Given the description of an element on the screen output the (x, y) to click on. 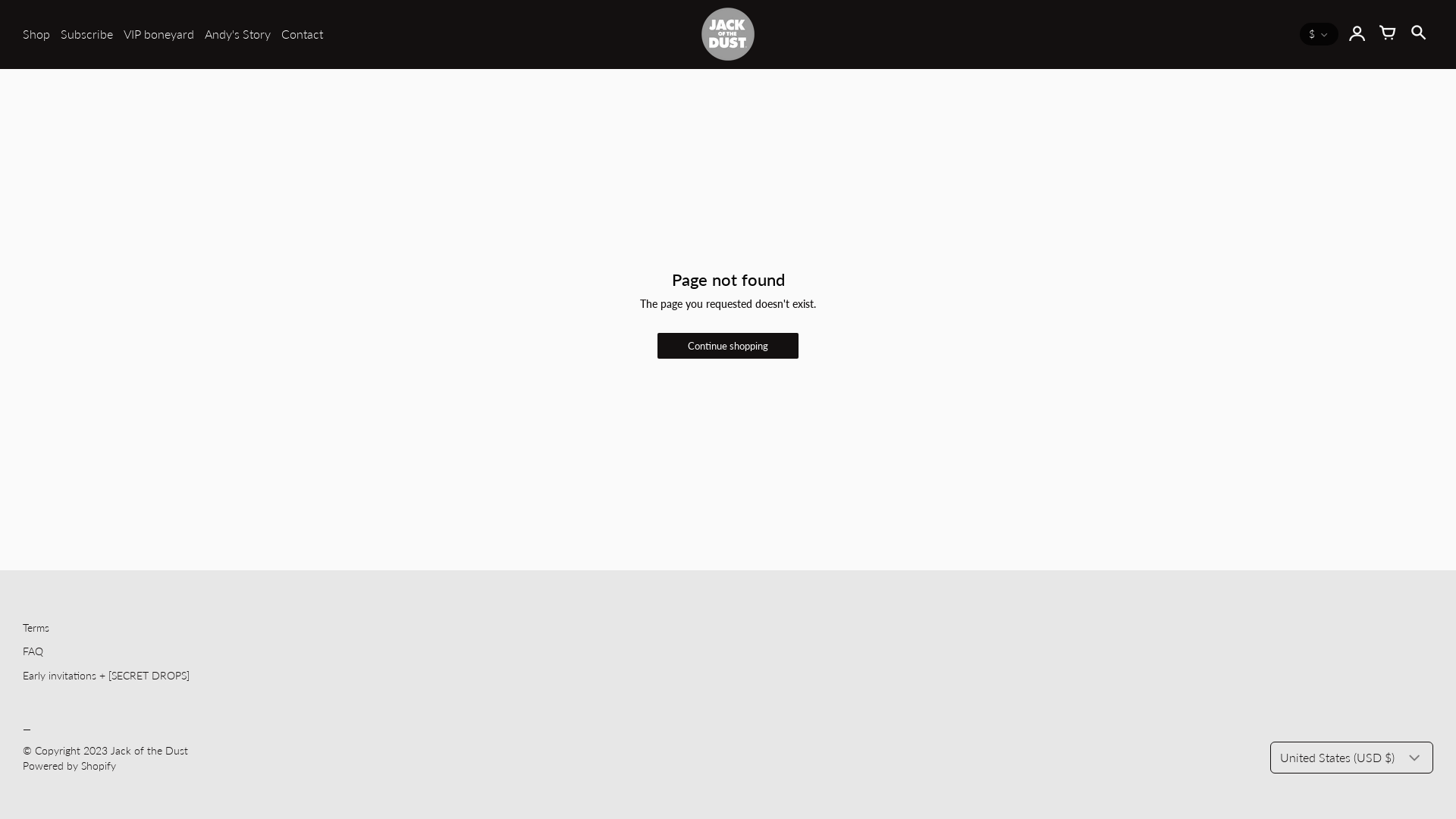
Powered by Shopify Element type: text (69, 765)
FAQ Element type: text (32, 650)
Jack of the Dust Element type: text (149, 749)
United States (USD $) Element type: text (1351, 757)
Subscribe Element type: text (86, 33)
$ Element type: text (1318, 33)
Continue shopping Element type: text (727, 345)
Early invitations + [SECRET DROPS] Element type: text (105, 674)
Andy's Story Element type: text (237, 33)
VIP boneyard Element type: text (158, 33)
Contact Element type: text (302, 33)
Shop Element type: text (36, 33)
Terms Element type: text (35, 627)
